Given the description of an element on the screen output the (x, y) to click on. 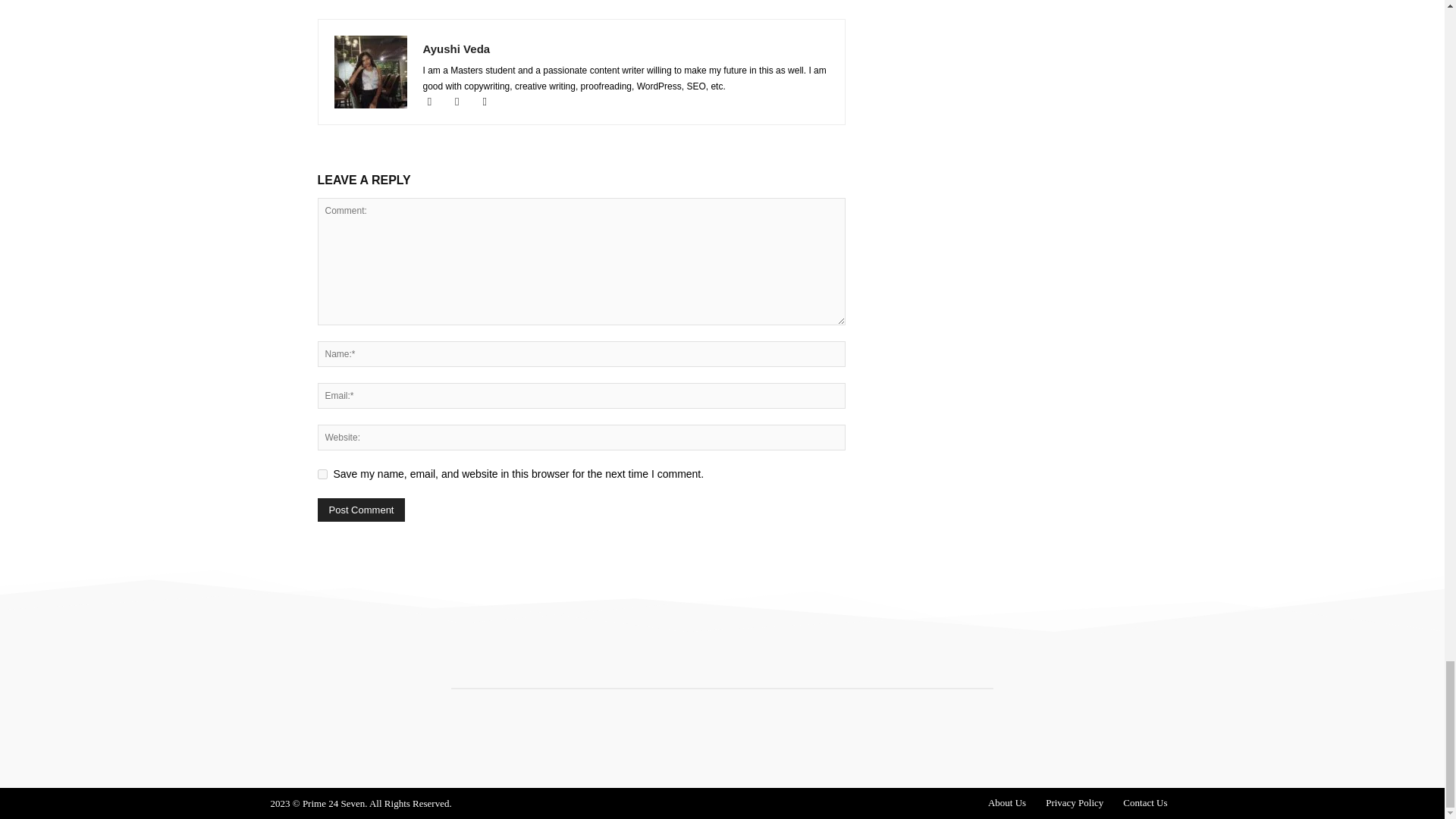
Post Comment (360, 509)
yes (321, 474)
